Given the description of an element on the screen output the (x, y) to click on. 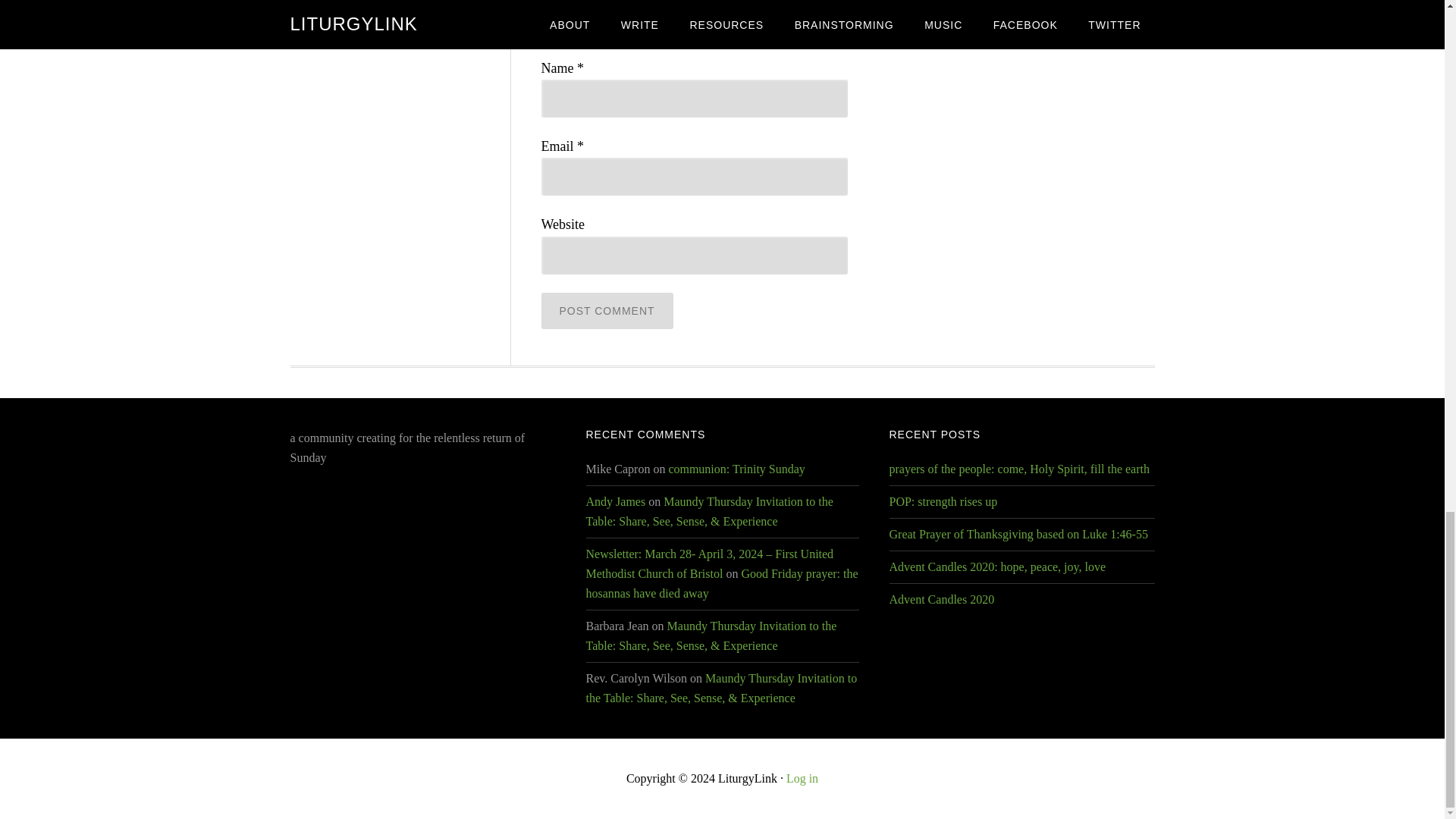
Post Comment (606, 310)
Post Comment (606, 310)
